Given the description of an element on the screen output the (x, y) to click on. 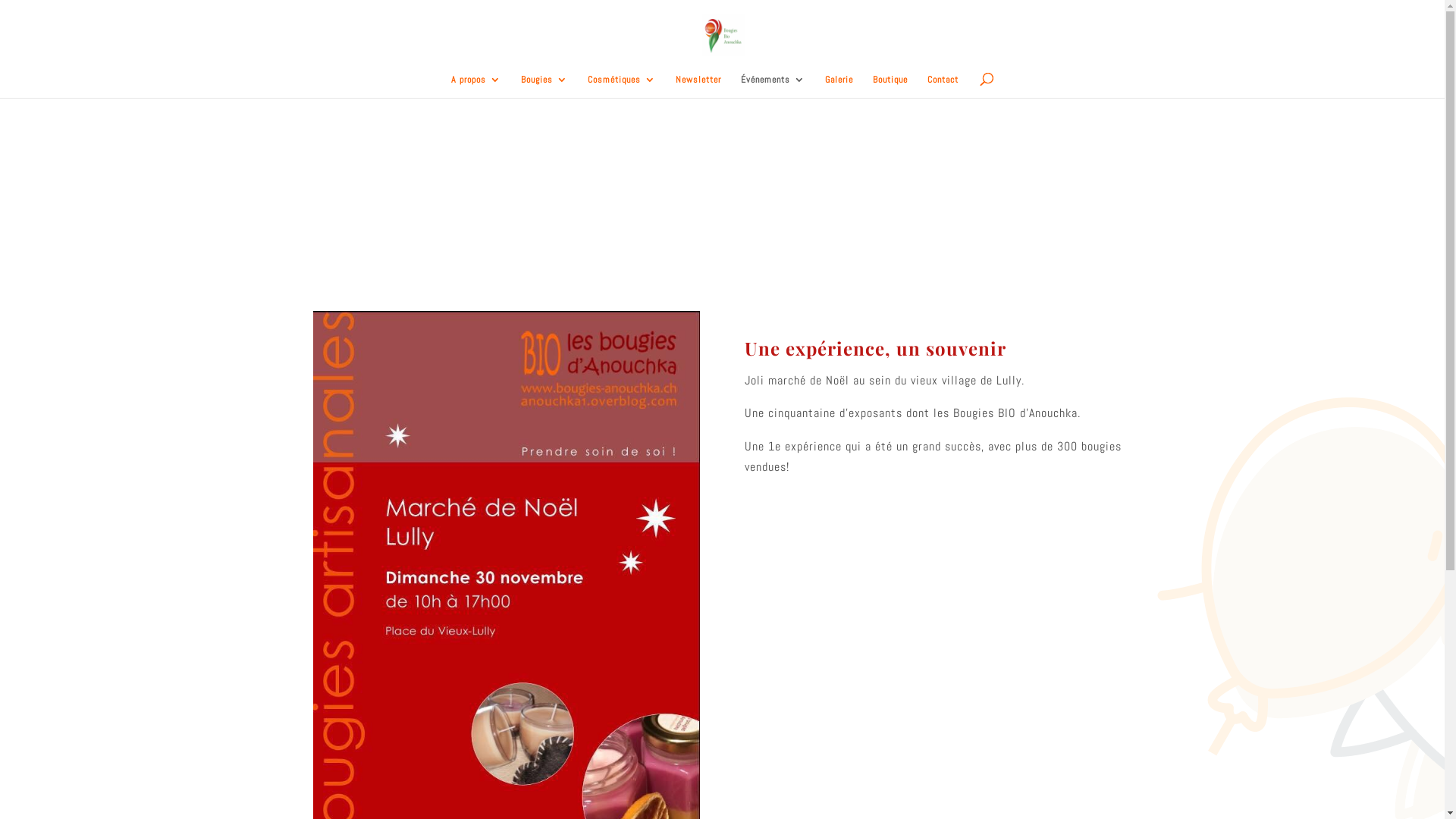
Galerie Element type: text (839, 85)
Newsletter Element type: text (698, 85)
Boutique Element type: text (889, 85)
A propos Element type: text (476, 85)
Bougies Element type: text (543, 85)
Contact Element type: text (942, 85)
